Given the description of an element on the screen output the (x, y) to click on. 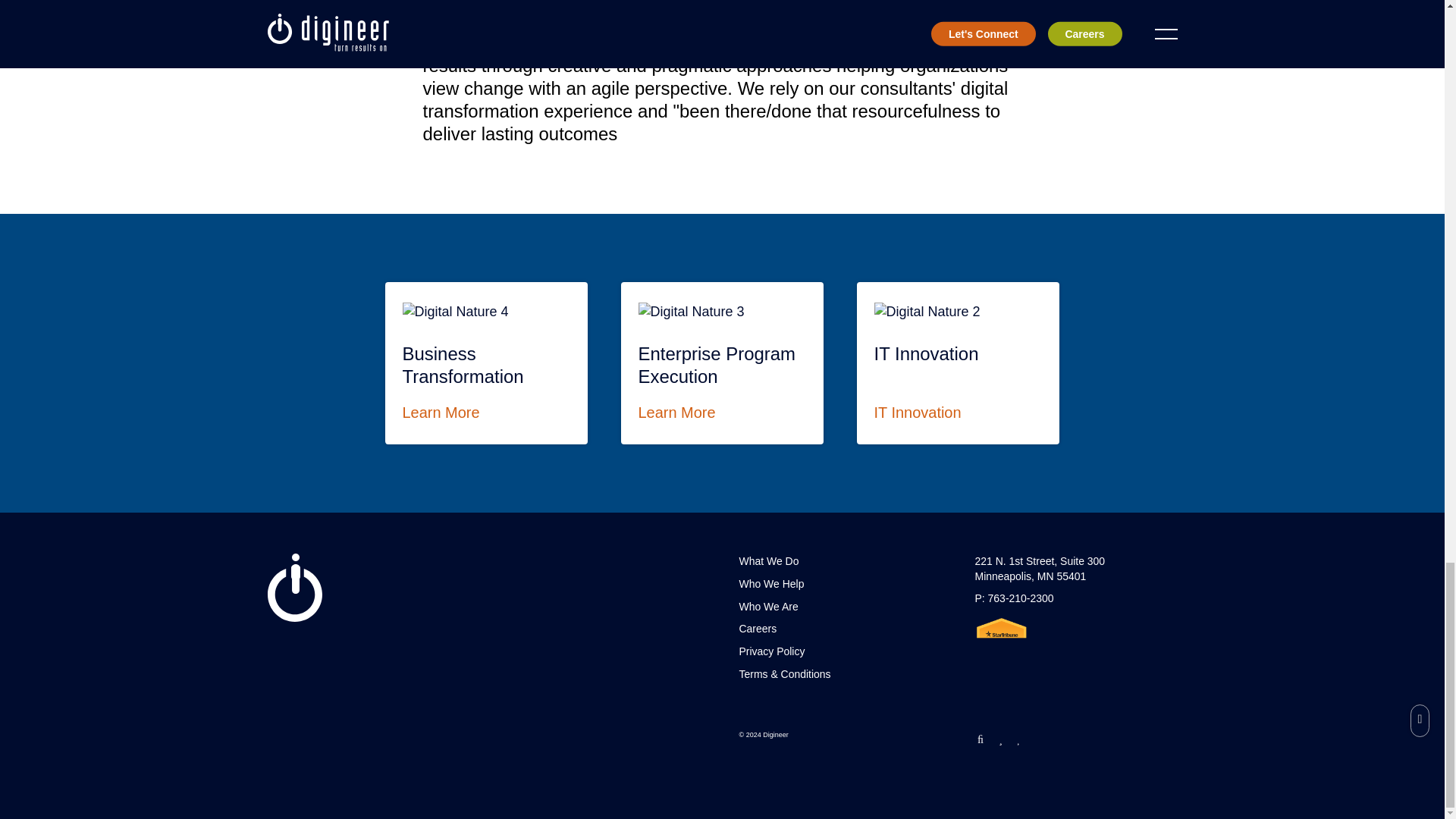
Careers (757, 628)
Who We Help (722, 362)
Privacy Policy (486, 362)
Who We Are (770, 583)
What We Do (771, 651)
